Given the description of an element on the screen output the (x, y) to click on. 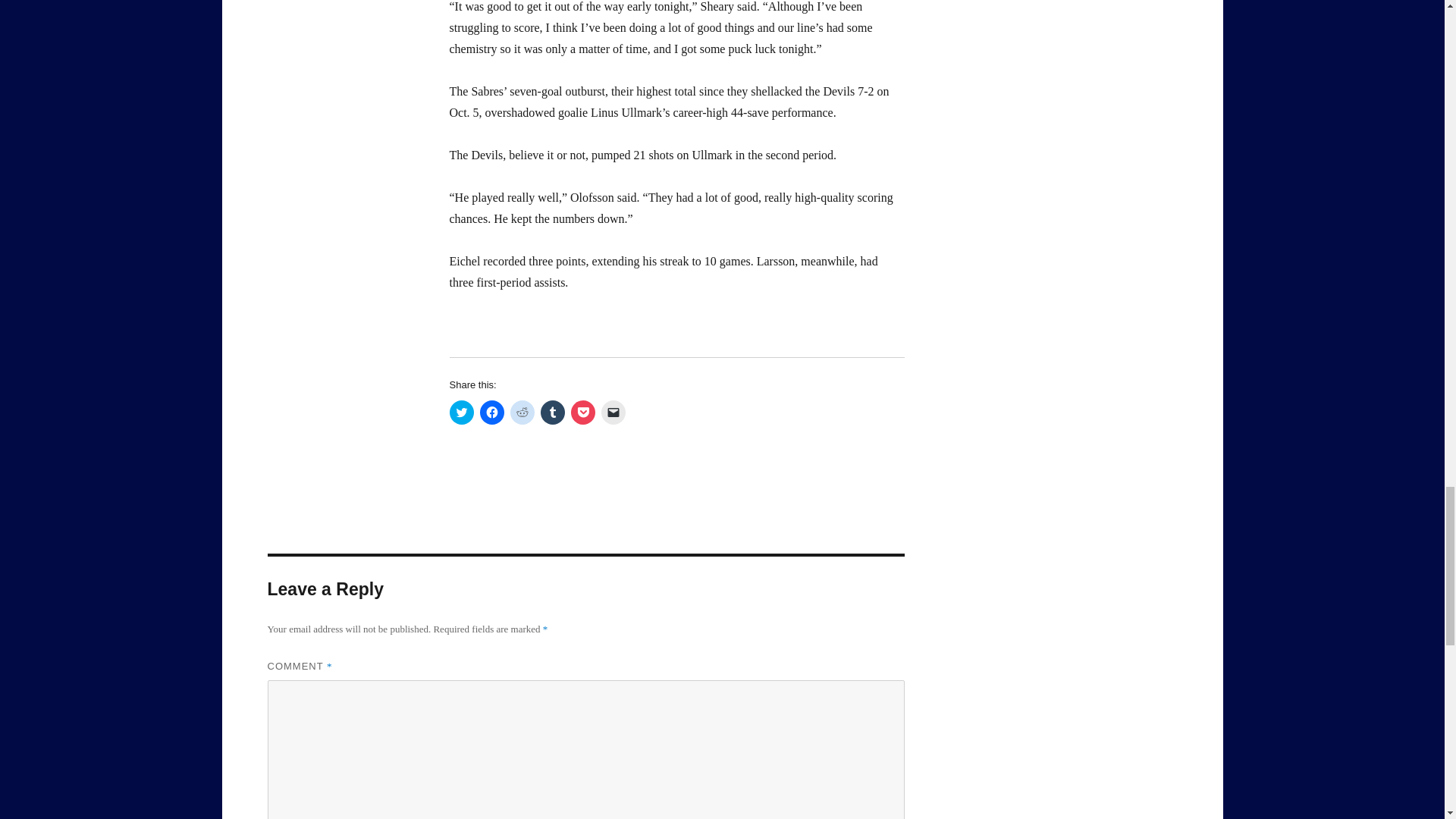
Click to email a link to a friend (611, 412)
Click to share on Twitter (460, 412)
Click to share on Pocket (582, 412)
Click to share on Facebook (491, 412)
Click to share on Reddit (521, 412)
Click to share on Tumblr (552, 412)
